Given the description of an element on the screen output the (x, y) to click on. 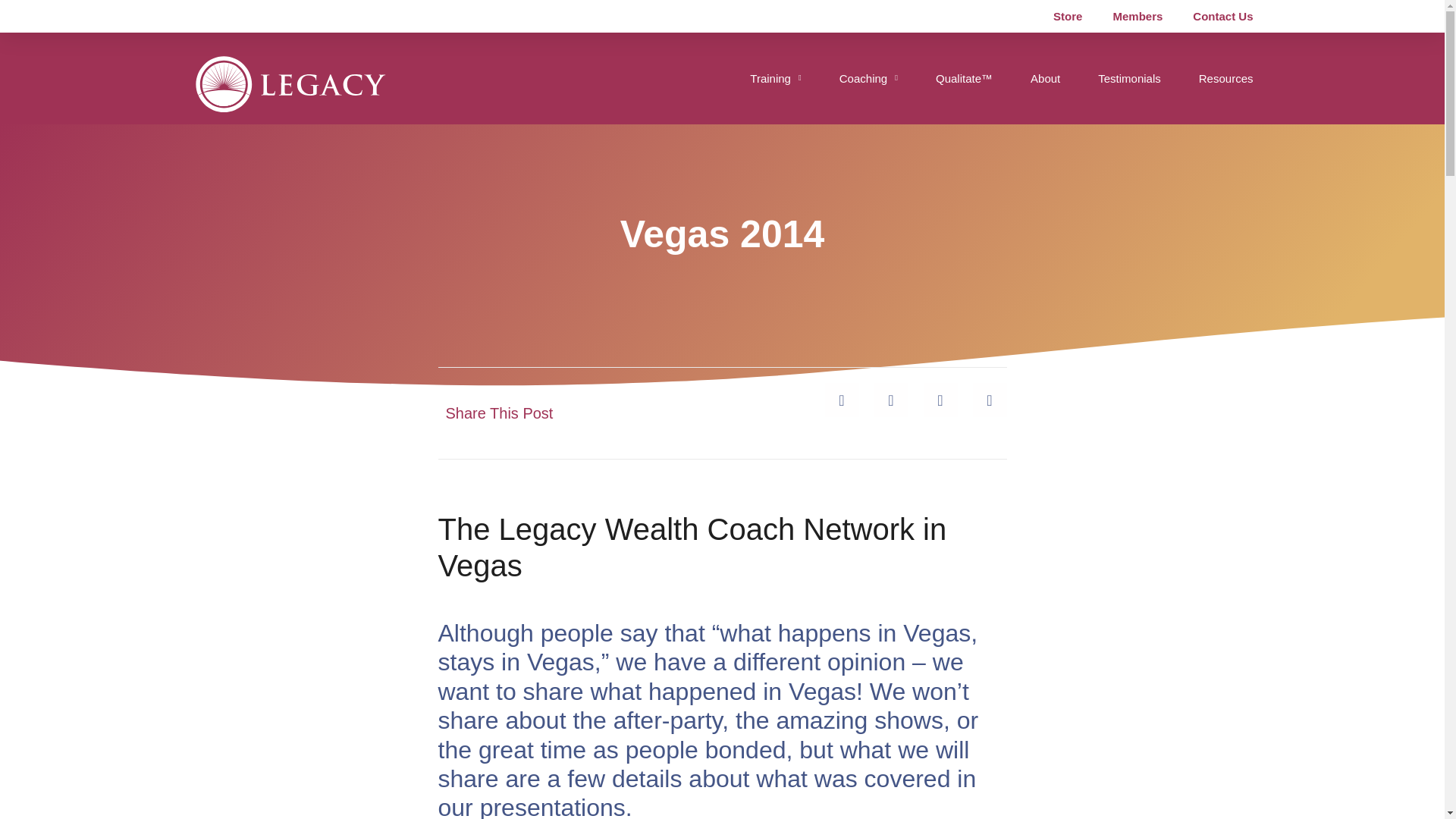
Store (1067, 15)
Testimonials (1128, 78)
Members (1137, 15)
Legacy Logo Horizontal white - Legacy (289, 84)
Contact Us (1222, 15)
